Given the description of an element on the screen output the (x, y) to click on. 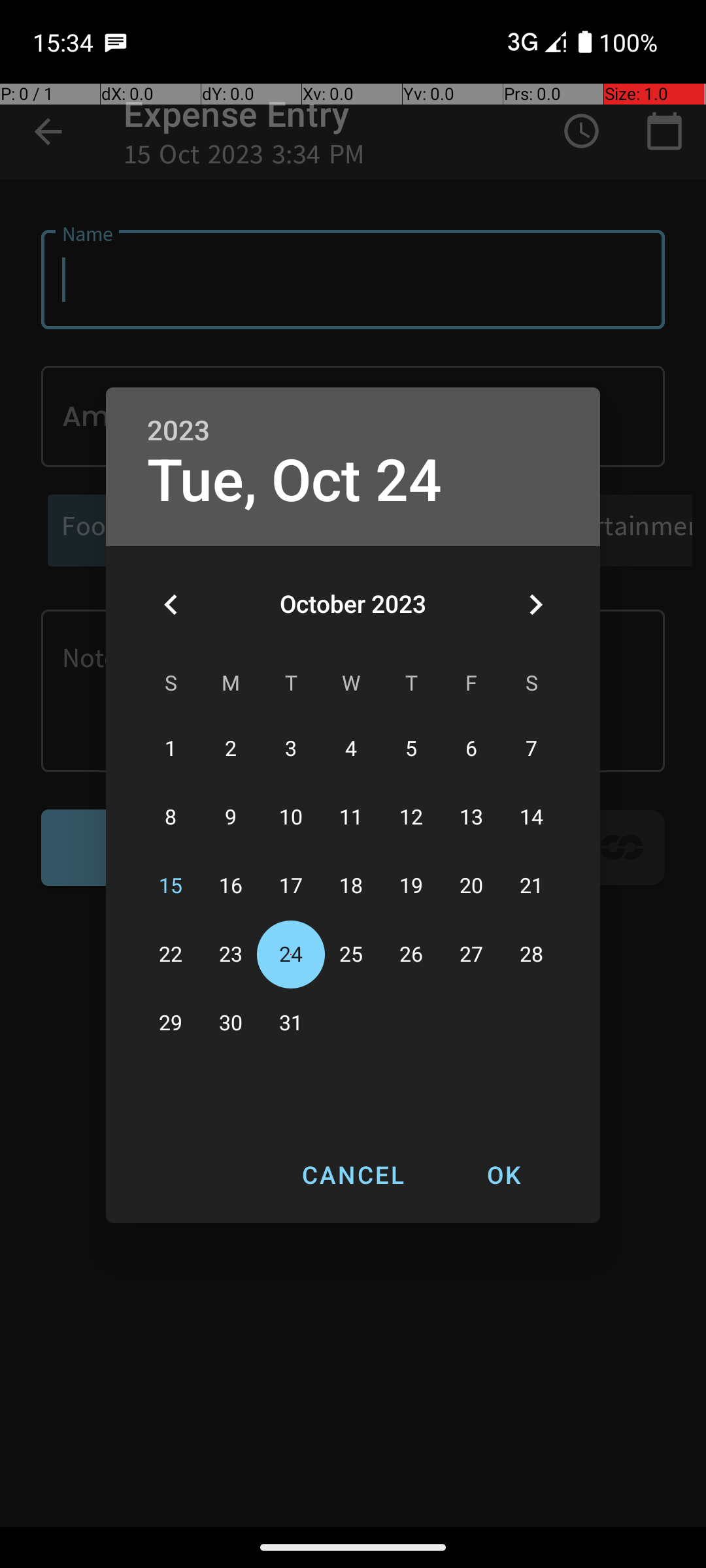
Tue, Oct 24 Element type: android.widget.TextView (294, 480)
